Given the description of an element on the screen output the (x, y) to click on. 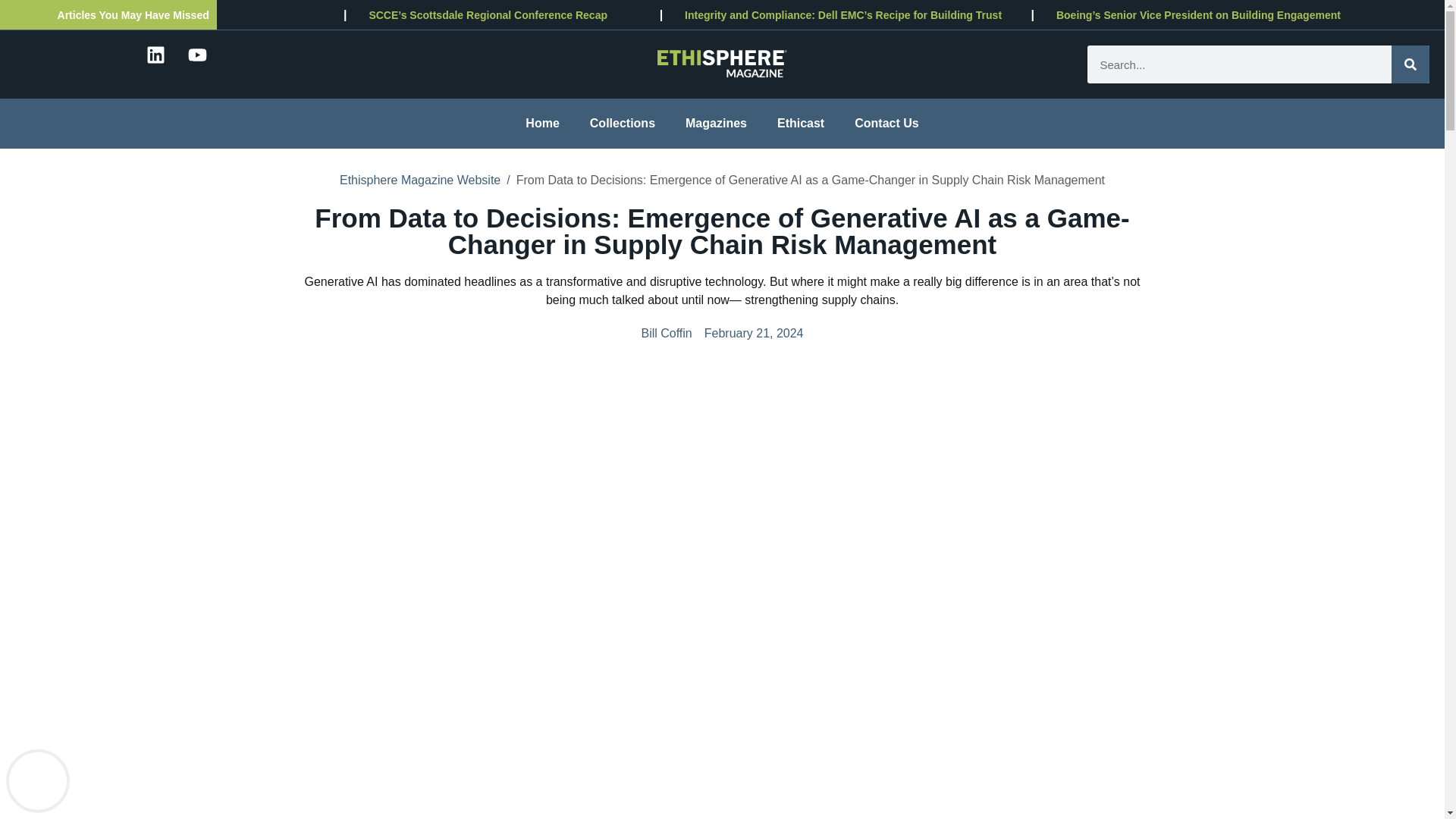
Bill Coffin (665, 333)
Home (542, 123)
Contact Us (886, 123)
Ethicast (800, 123)
February 21, 2024 (753, 333)
Collections (622, 123)
Ethisphere Magazine Website (419, 179)
Magazines (715, 123)
